Given the description of an element on the screen output the (x, y) to click on. 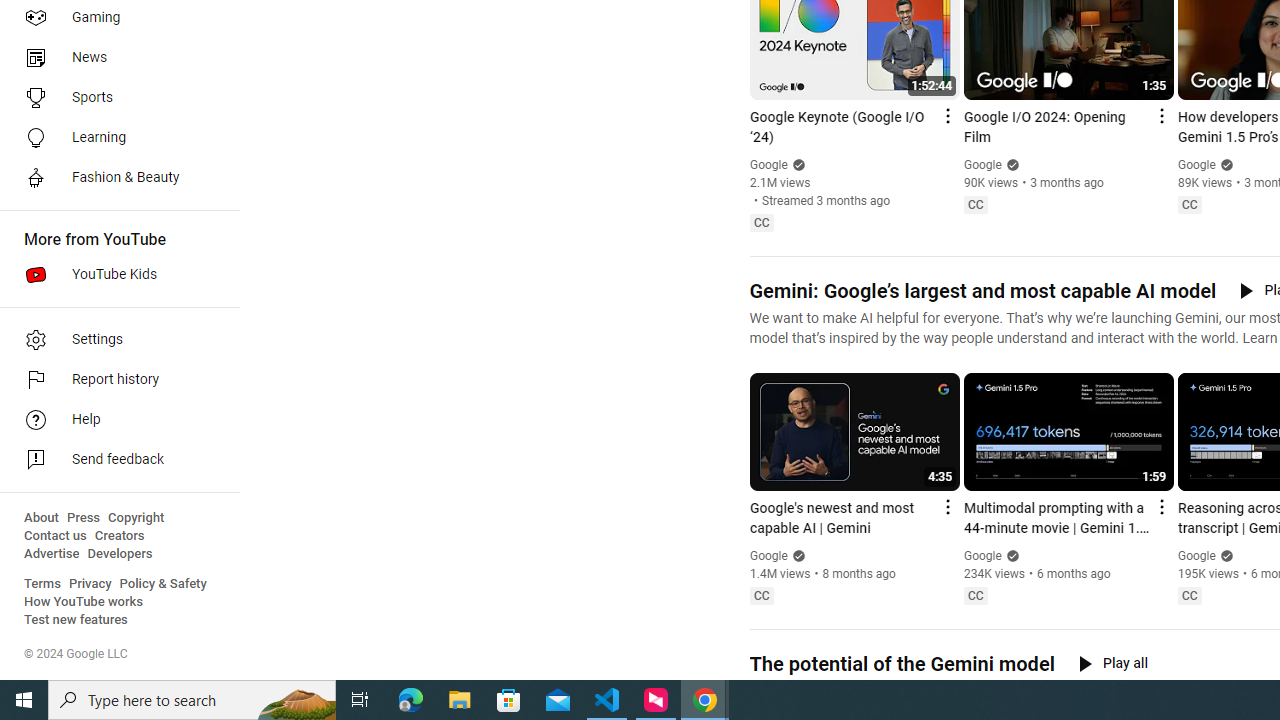
Policy & Safety (163, 584)
The potential of the Gemini model (901, 664)
News (113, 57)
YouTube Kids (113, 274)
Closed captions (1189, 595)
Contact us (55, 536)
Verified (1223, 555)
Action menu (1160, 506)
Learning (113, 137)
Privacy (89, 584)
Copyright (136, 518)
How YouTube works (83, 602)
